Given the description of an element on the screen output the (x, y) to click on. 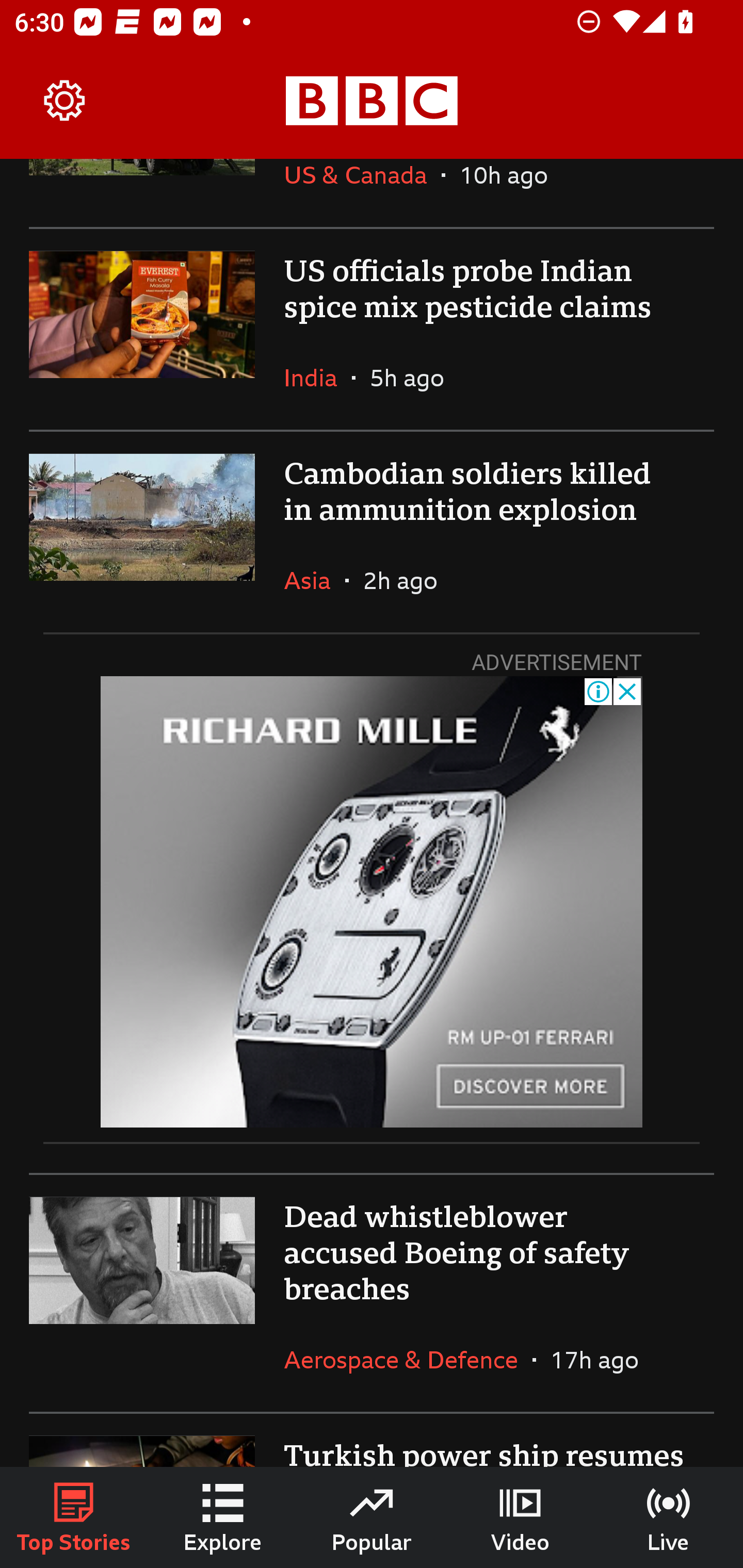
Settings (64, 100)
US & Canada In the section US & Canada (362, 192)
India In the section India (317, 377)
Asia In the section Asia (314, 579)
Advertisement (371, 901)
Explore (222, 1517)
Popular (371, 1517)
Video (519, 1517)
Live (668, 1517)
